Given the description of an element on the screen output the (x, y) to click on. 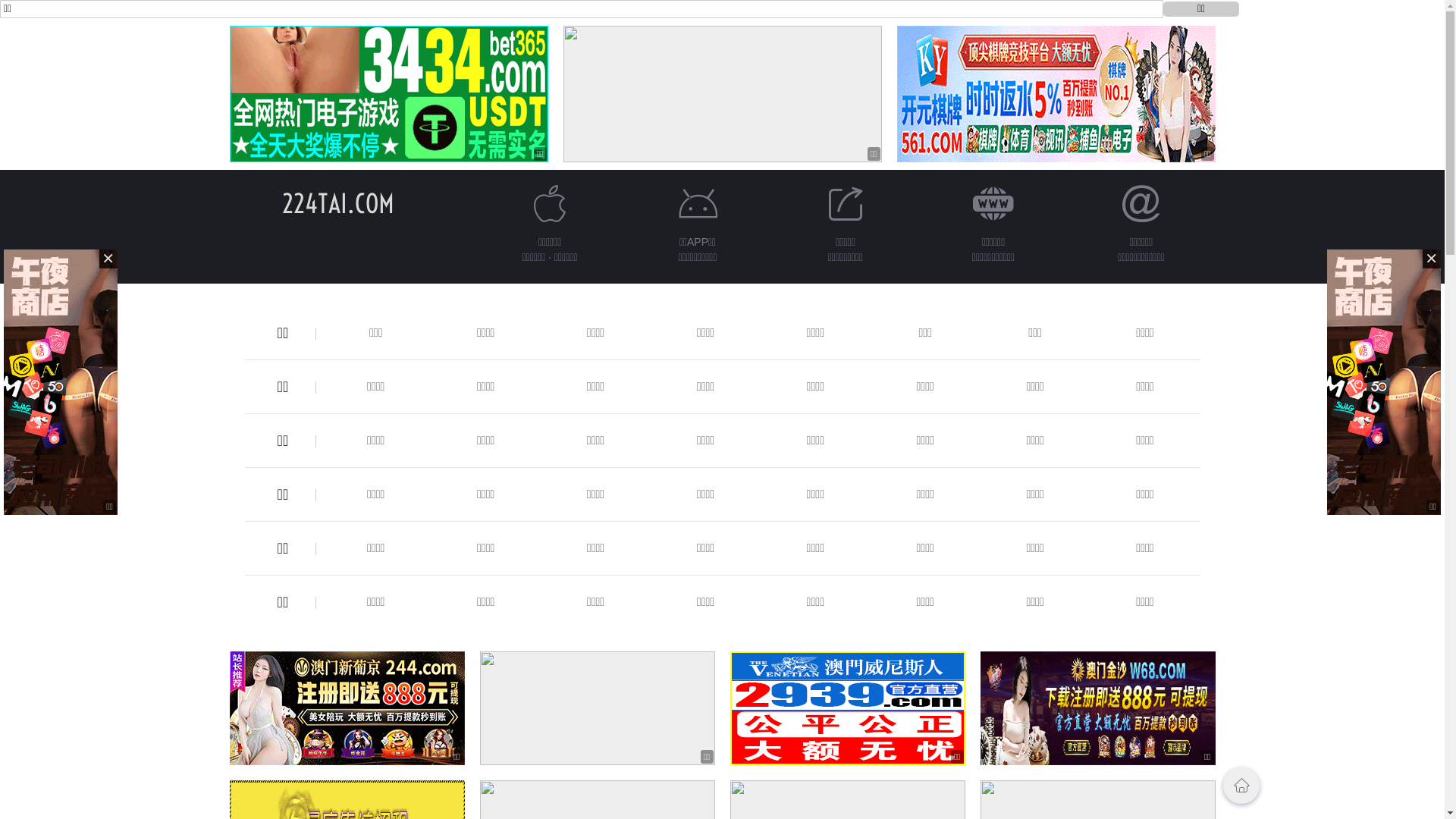
224TAI.COM Element type: text (338, 203)
